Given the description of an element on the screen output the (x, y) to click on. 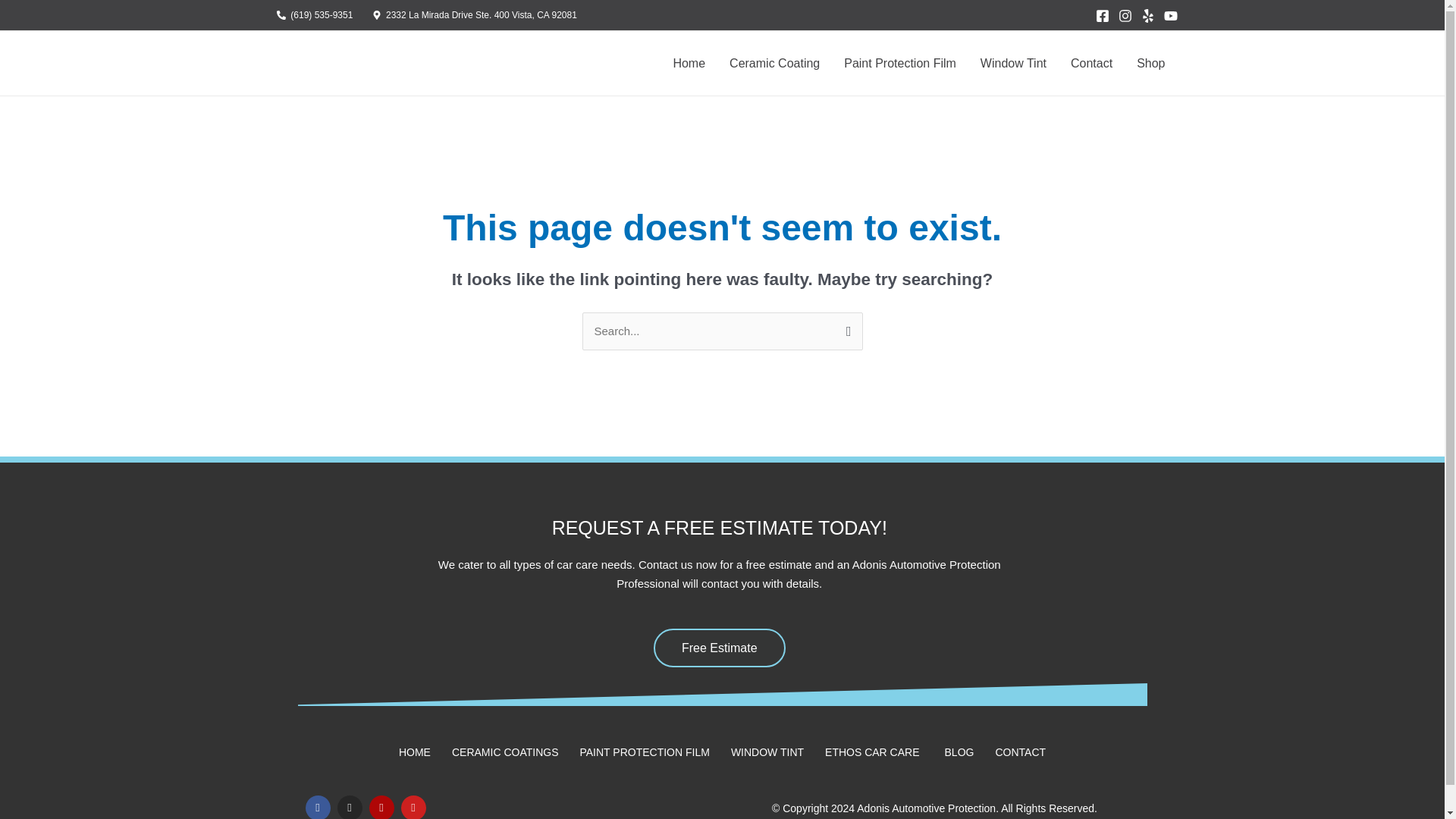
CERAMIC COATINGS (505, 752)
Ceramic Coating (774, 62)
Paint Protection Film (899, 62)
Contact (1091, 62)
Home (689, 62)
Window Tint (1013, 62)
2332 La Mirada Drive Ste. 400 Vista, CA 92081 (474, 14)
HOME (414, 752)
Shop (1150, 62)
Search (844, 327)
PAINT PROTECTION FILM (644, 752)
Search (844, 327)
Search (844, 327)
Free Estimate (719, 647)
